Given the description of an element on the screen output the (x, y) to click on. 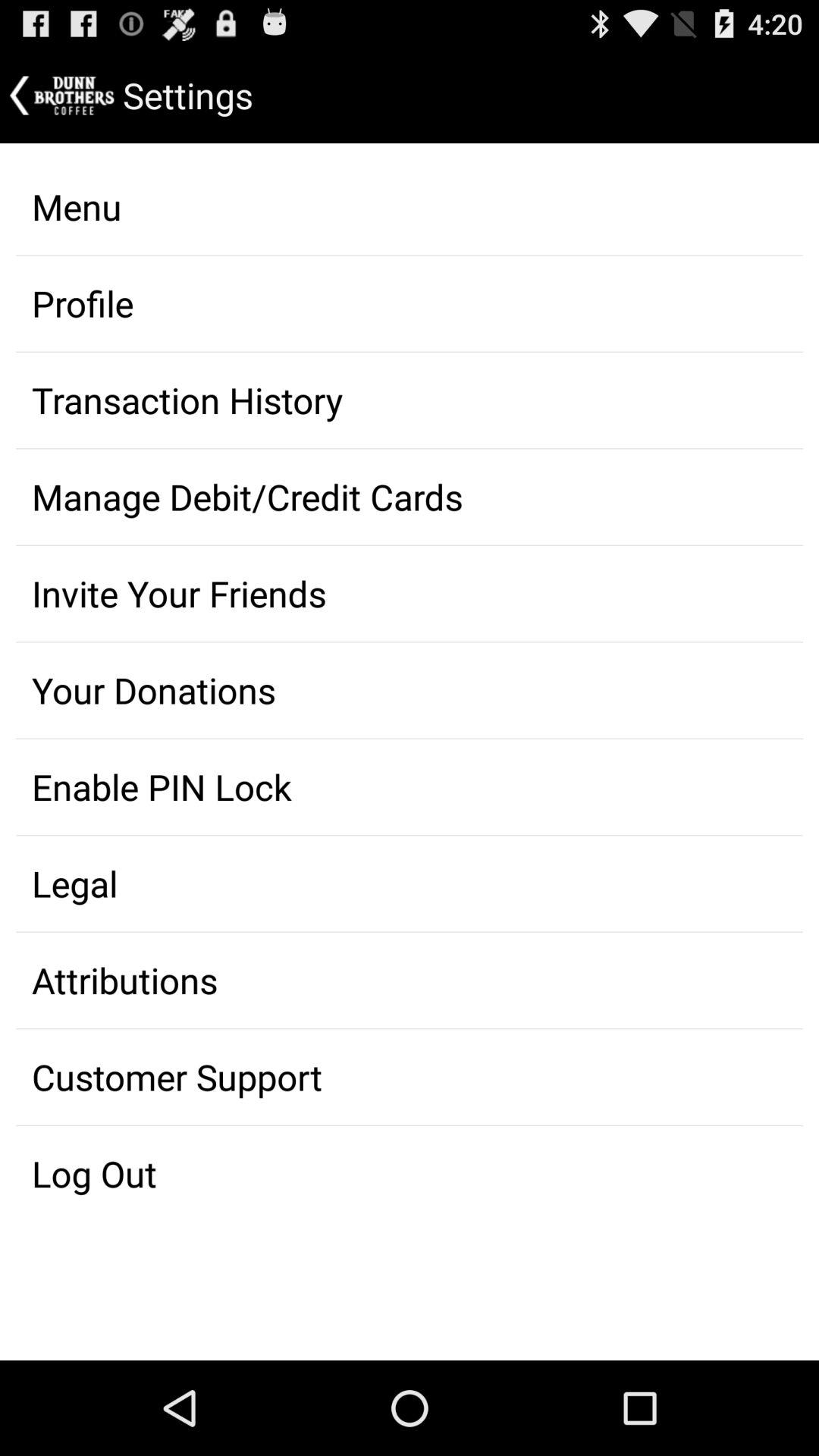
select app below the settings app (409, 206)
